Given the description of an element on the screen output the (x, y) to click on. 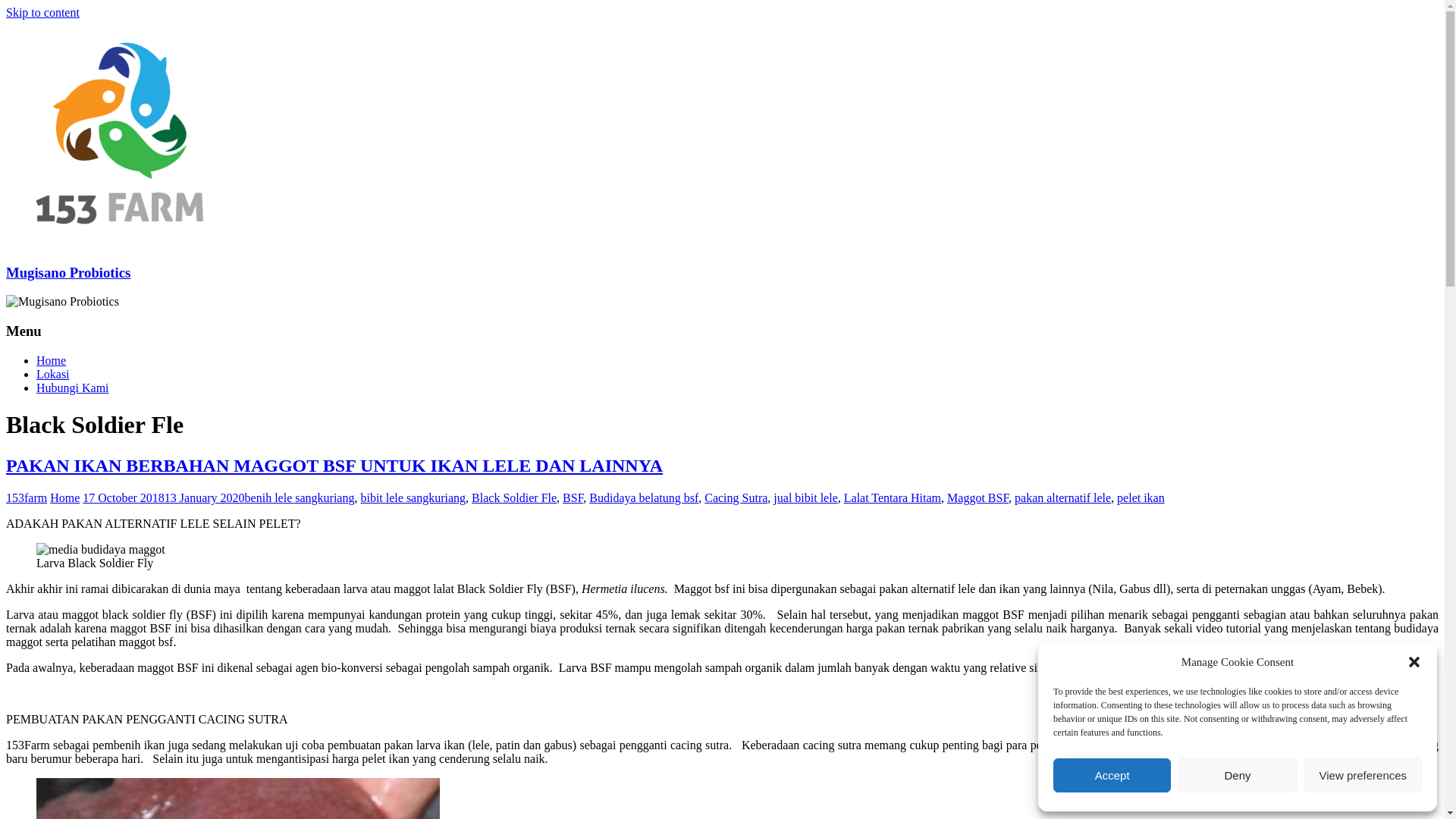
PAKAN IKAN BERBAHAN MAGGOT BSF UNTUK IKAN LELE DAN LAINNYA Element type: text (334, 465)
pakan alternatif lele Element type: text (1062, 497)
Skip to content Element type: text (42, 12)
jual bibit lele Element type: text (805, 497)
153farm Element type: text (26, 497)
Budidaya belatung bsf Element type: text (643, 497)
pelet ikan Element type: text (1140, 497)
Lokasi Element type: text (52, 373)
benih lele sangkuriang Element type: text (299, 497)
Black Soldier Fle Element type: text (513, 497)
Accept Element type: text (1111, 775)
View preferences Element type: text (1362, 775)
BSF Element type: text (572, 497)
Hubungi Kami Element type: text (72, 387)
Maggot BSF Element type: text (977, 497)
Home Element type: text (50, 360)
Deny Element type: text (1236, 775)
Home Element type: text (64, 497)
Lalat Tentara Hitam Element type: text (892, 497)
bibit lele sangkuriang Element type: text (412, 497)
17 October 201813 January 2020 Element type: text (163, 497)
Mugisano Probiotics Element type: text (68, 272)
Cacing Sutra Element type: text (735, 497)
